Given the description of an element on the screen output the (x, y) to click on. 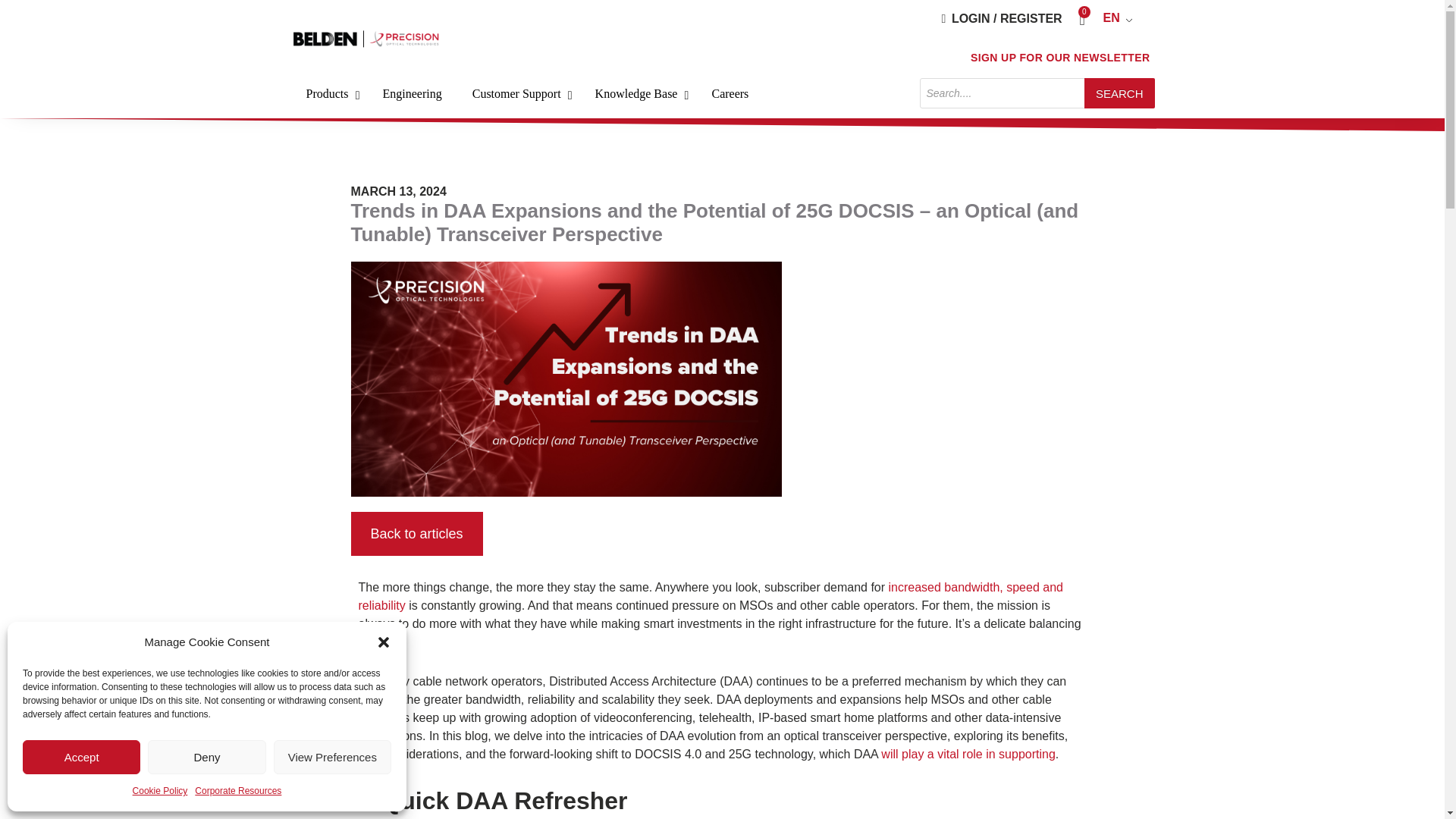
View Preferences (332, 756)
Products (329, 94)
Accept (81, 756)
Corporate Resources (238, 791)
SIGN UP FOR OUR NEWSLETTER (1060, 56)
English (1121, 17)
Deny (206, 756)
Click to view Cart (721, 94)
EN (1080, 18)
Cookie Policy (1121, 17)
"Click To Login or Register" (159, 791)
